Given the description of an element on the screen output the (x, y) to click on. 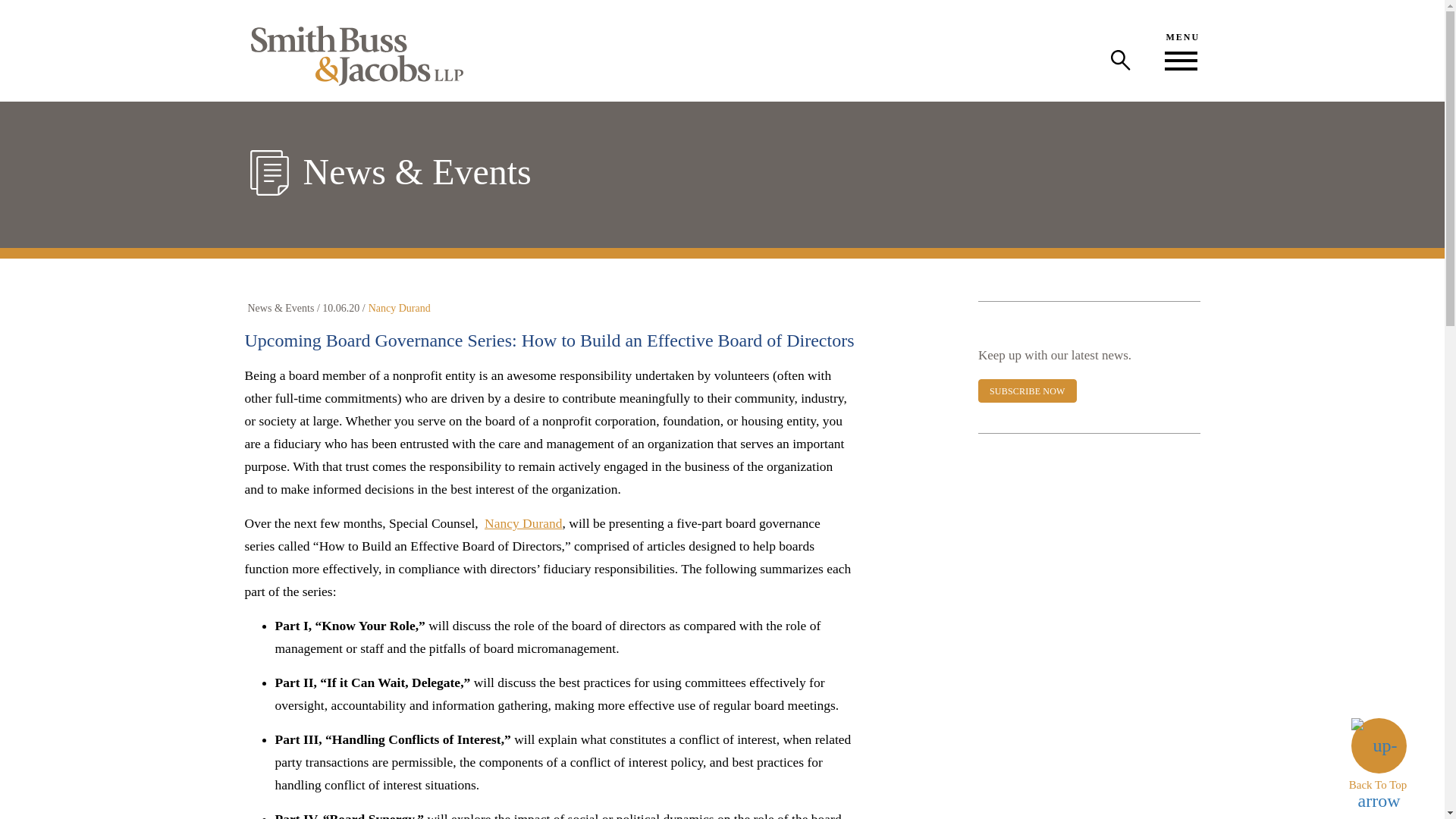
Nancy Durand (523, 522)
SUBSCRIBE NOW (1027, 390)
MENU (1180, 50)
Nancy Durand (399, 307)
